Given the description of an element on the screen output the (x, y) to click on. 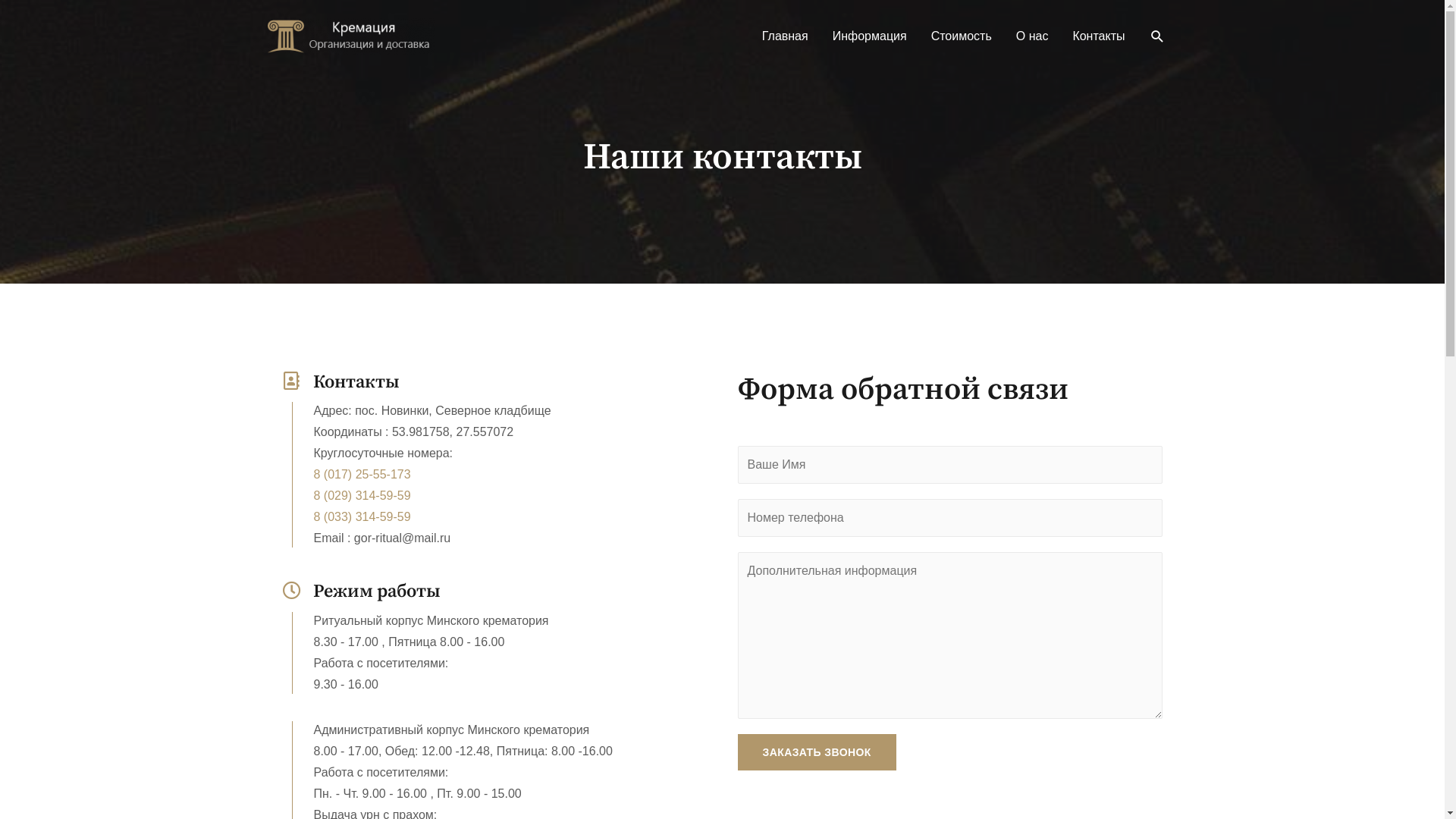
8 (017) 25-55-173 Element type: text (464, 474)
8 (029) 314-59-59 Element type: text (464, 495)
8 (033) 314-59-59 Element type: text (464, 517)
